Given the description of an element on the screen output the (x, y) to click on. 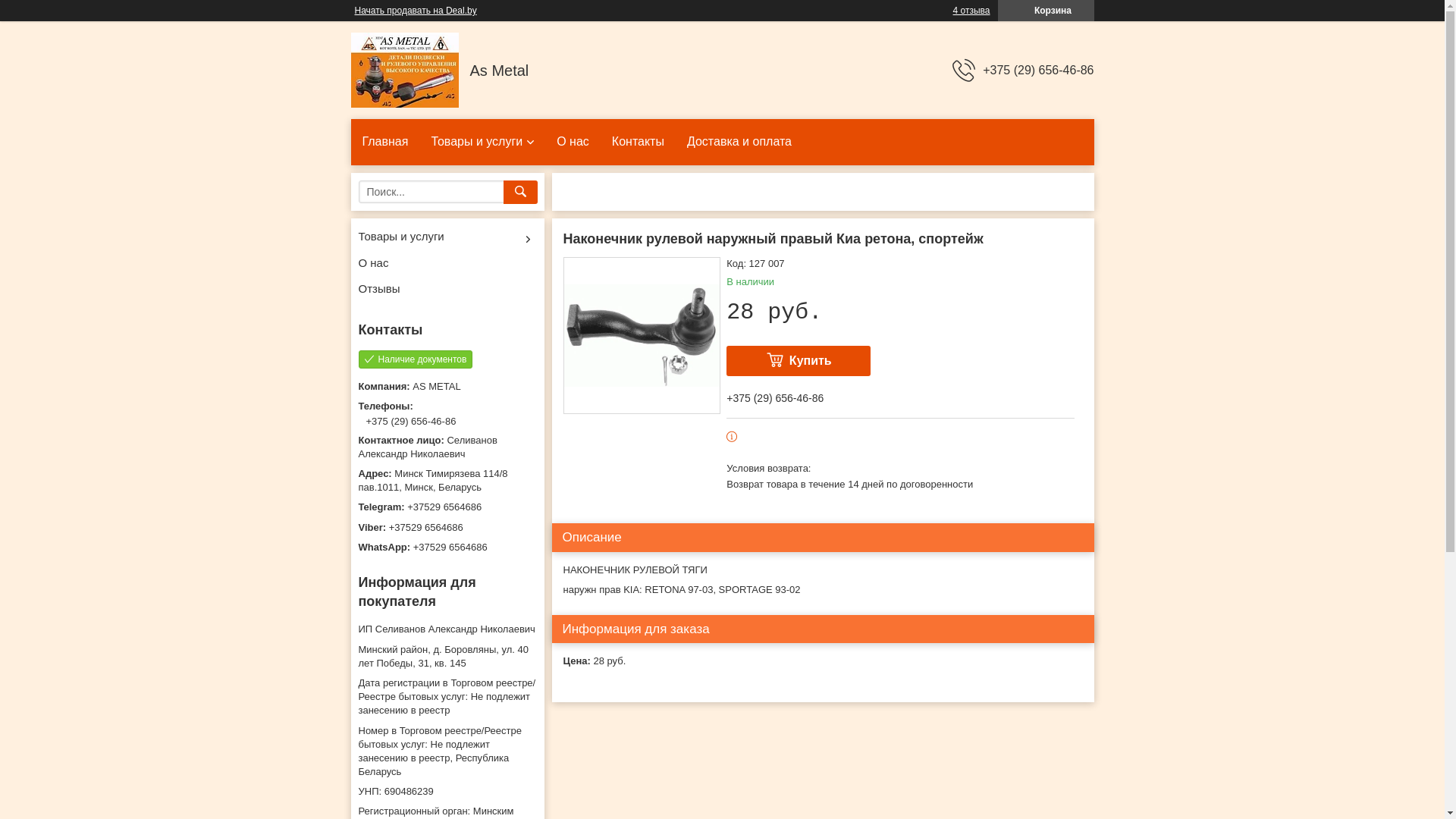
AS METAL Element type: hover (404, 69)
